Given the description of an element on the screen output the (x, y) to click on. 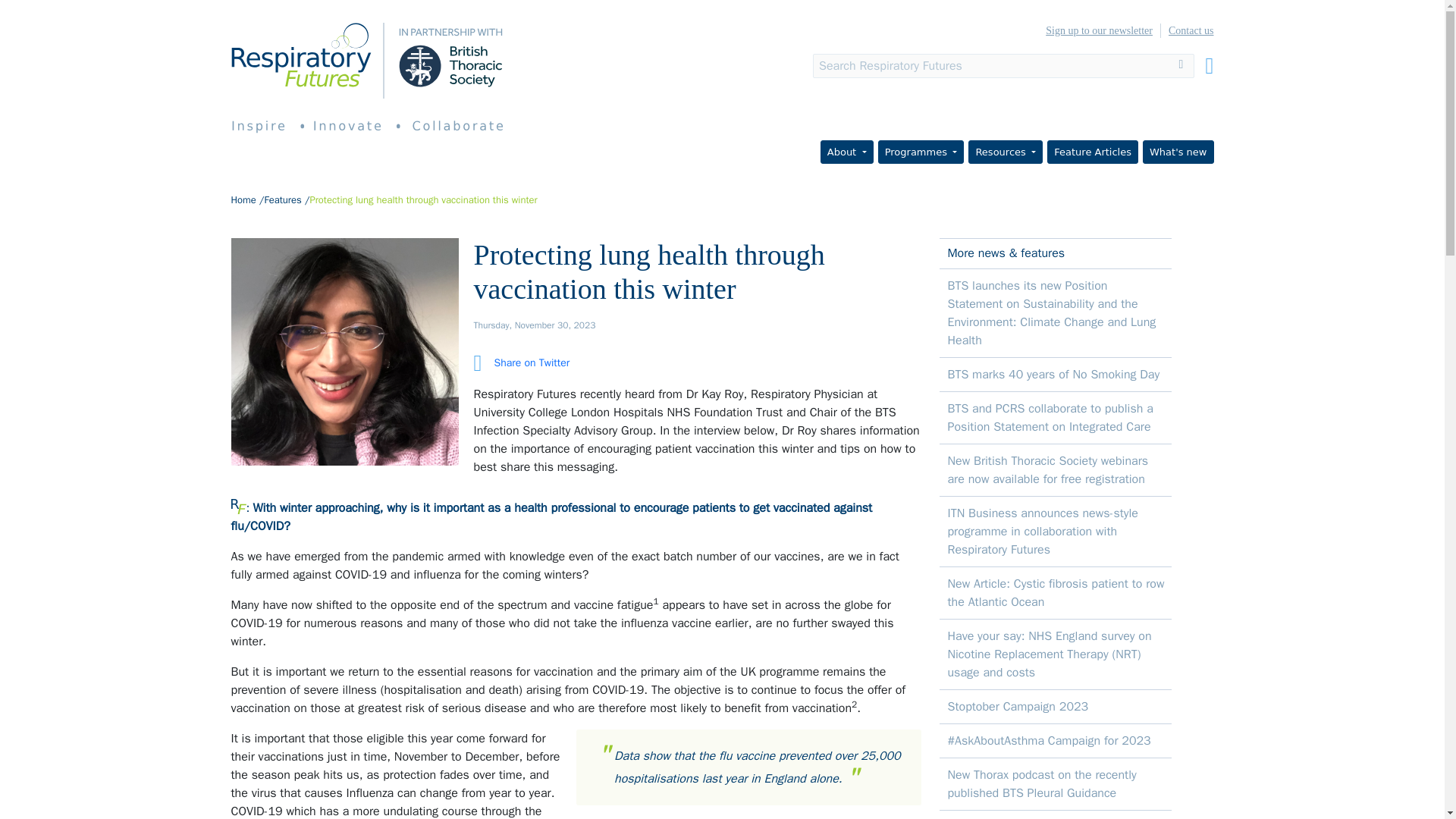
About (847, 152)
Resources (1005, 152)
Home (243, 199)
Programmes (920, 152)
Share on Twitter (521, 363)
Features (282, 199)
What's new (1178, 152)
Contact us (1187, 30)
Sign up to our newsletter (1099, 30)
Feature Articles (1092, 152)
